Given the description of an element on the screen output the (x, y) to click on. 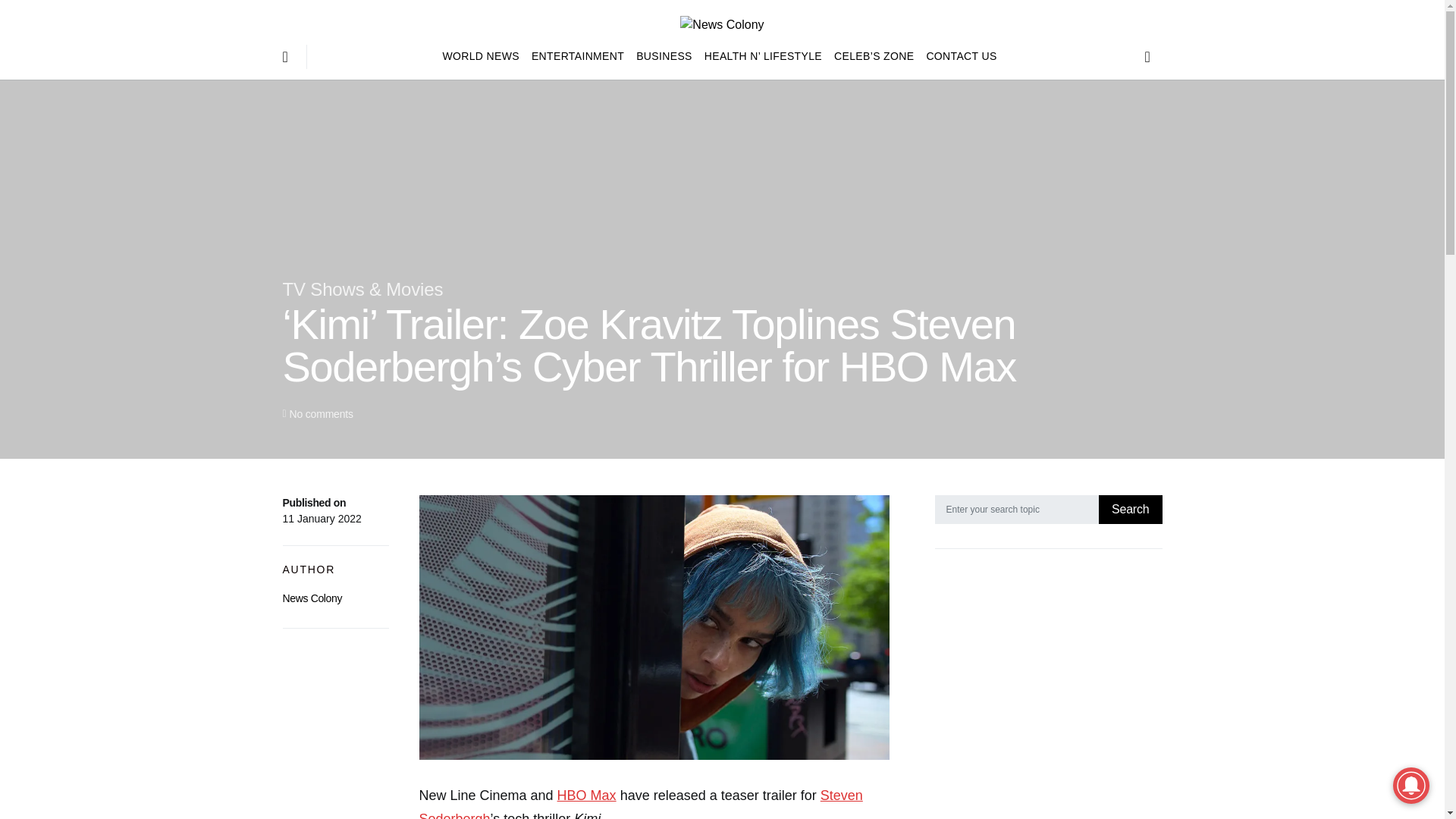
News Colony (312, 598)
ENTERTAINMENT (577, 56)
Advertisement (1047, 696)
HBO Max (586, 795)
BUSINESS (664, 56)
No comments (320, 414)
Steven Soderbergh (640, 803)
CONTACT US (957, 56)
WORLD NEWS (483, 56)
